Given the description of an element on the screen output the (x, y) to click on. 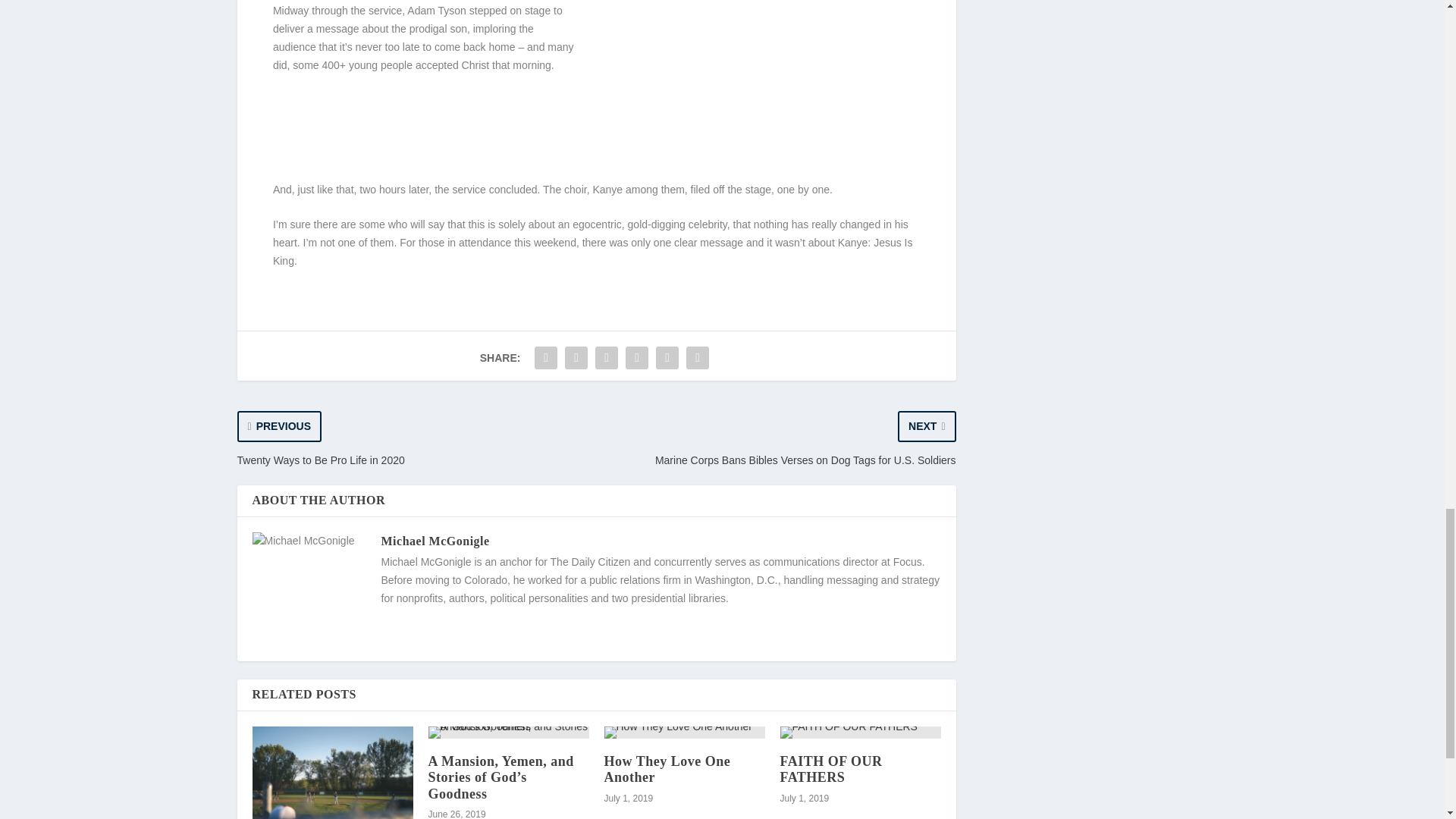
How They Love One Another (684, 732)
How They Love One Another (667, 769)
Welcoming Summertime (331, 772)
FAITH OF OUR FATHERS (830, 769)
Michael McGonigle (434, 540)
FAITH OF OUR FATHERS (859, 732)
View all posts by Michael McGonigle (434, 540)
